Given the description of an element on the screen output the (x, y) to click on. 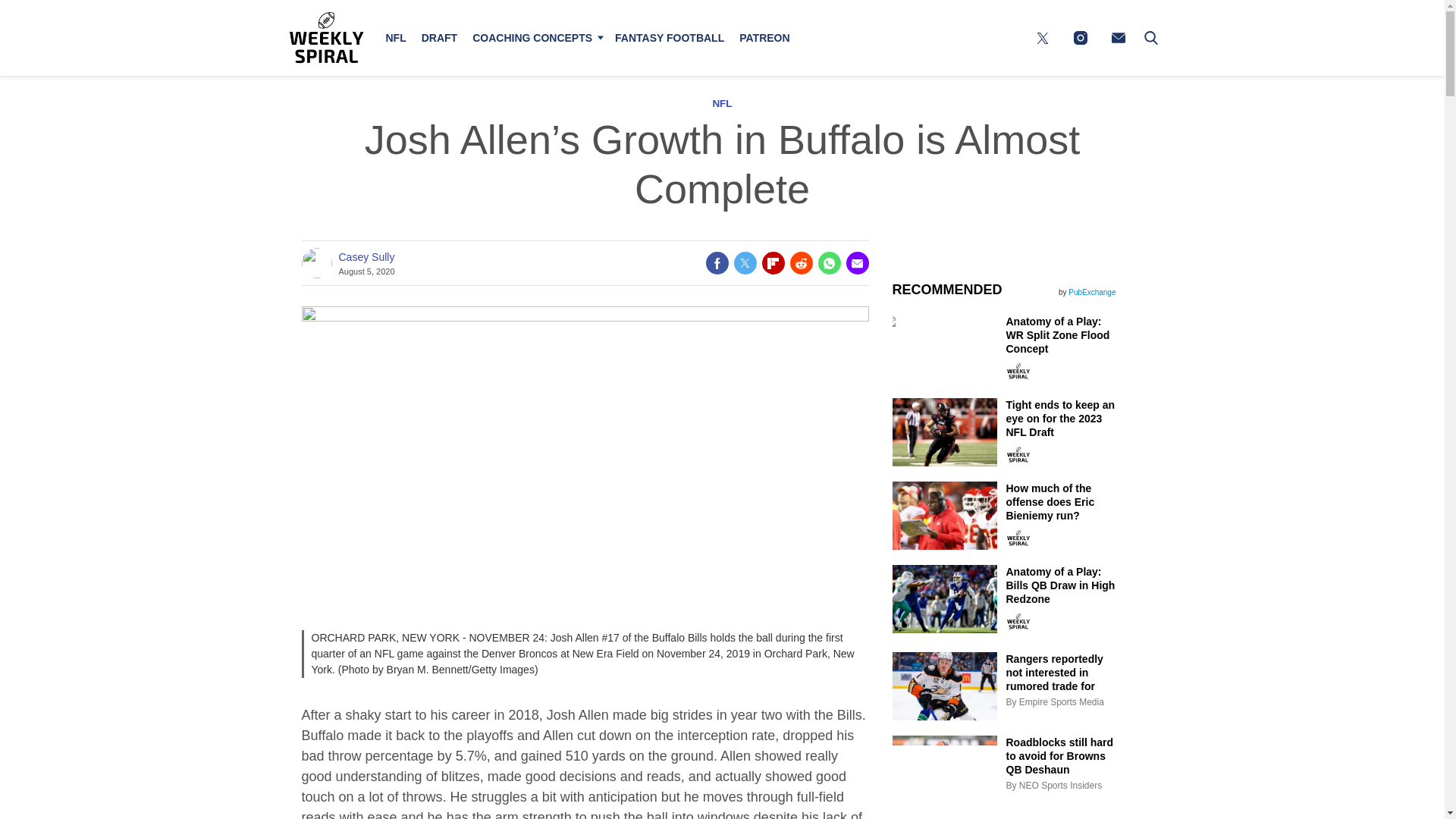
Share on Facebook (716, 262)
Posts by Casey Sully (365, 257)
Share on Flipboard (772, 262)
Anatomy of a Play: Bills QB Draw in High Redzone (1062, 597)
FANTASY FOOTBALL (669, 38)
NFL (721, 102)
Share on WhatsApp (828, 262)
Casey Sully (365, 257)
Share on Twitter (745, 262)
How much of the offense does Eric Bieniemy run? (1062, 514)
